Given the description of an element on the screen output the (x, y) to click on. 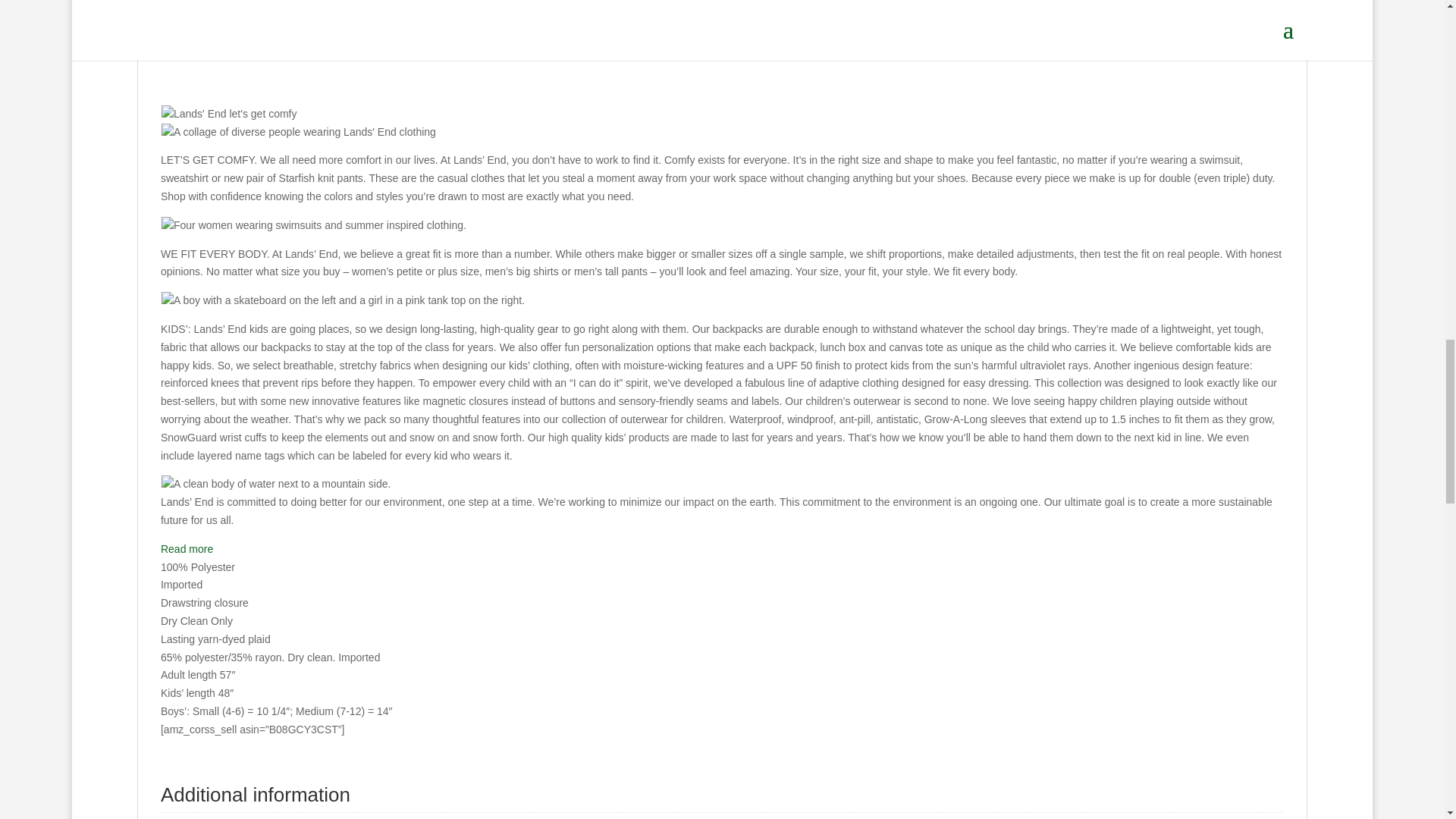
Lands-End-School-Uniform-Kids-Pre-Tied-Tie-0-1 (869, 22)
Lands-End-School-Uniform-Kids-Pre-Tied-Tie-0 (277, 22)
Read more (186, 548)
Lands-End-School-Uniform-Kids-Pre-Tied-Tie-0-0 (574, 22)
